Given the description of an element on the screen output the (x, y) to click on. 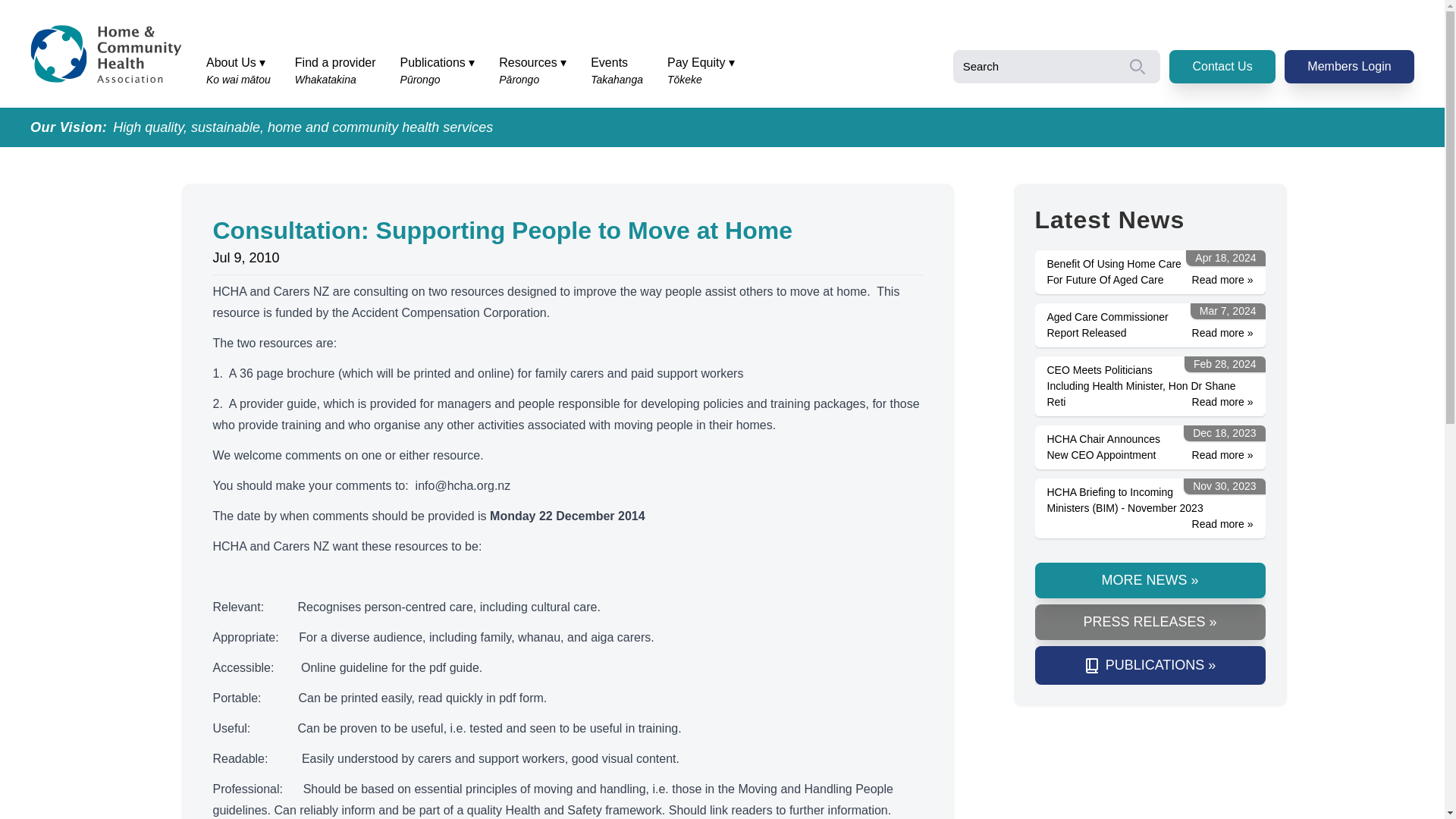
Members Login (1348, 66)
Search (1056, 66)
Search (1056, 66)
Contact Us (617, 70)
